Given the description of an element on the screen output the (x, y) to click on. 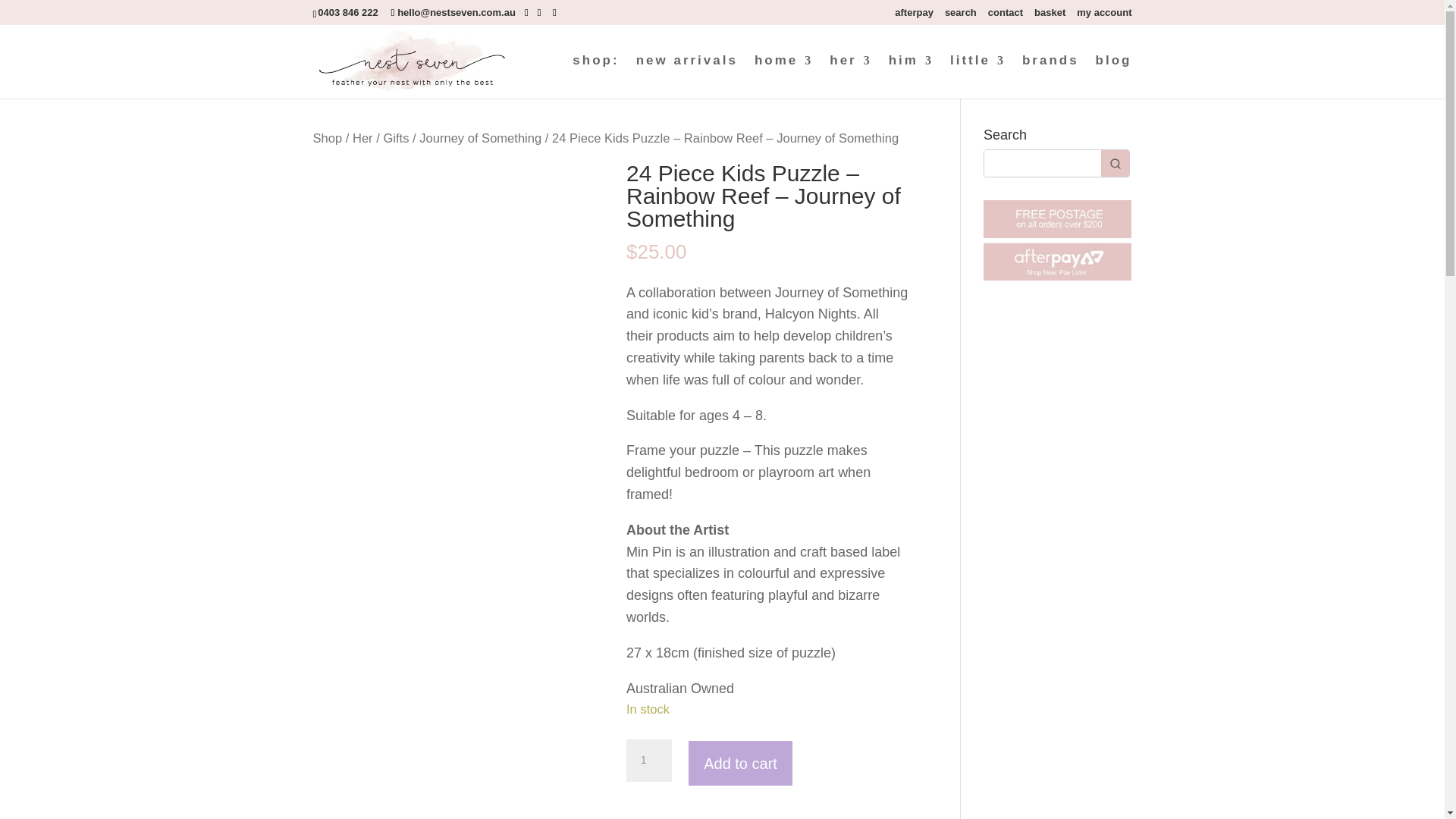
0403 846 222 (351, 12)
shop: (595, 76)
her (849, 76)
afterpay (914, 16)
contact (1005, 16)
my account (1104, 16)
1 (648, 760)
home (783, 76)
him (910, 76)
basket (1049, 16)
little (978, 76)
search (960, 16)
new arrivals (687, 76)
